Given the description of an element on the screen output the (x, y) to click on. 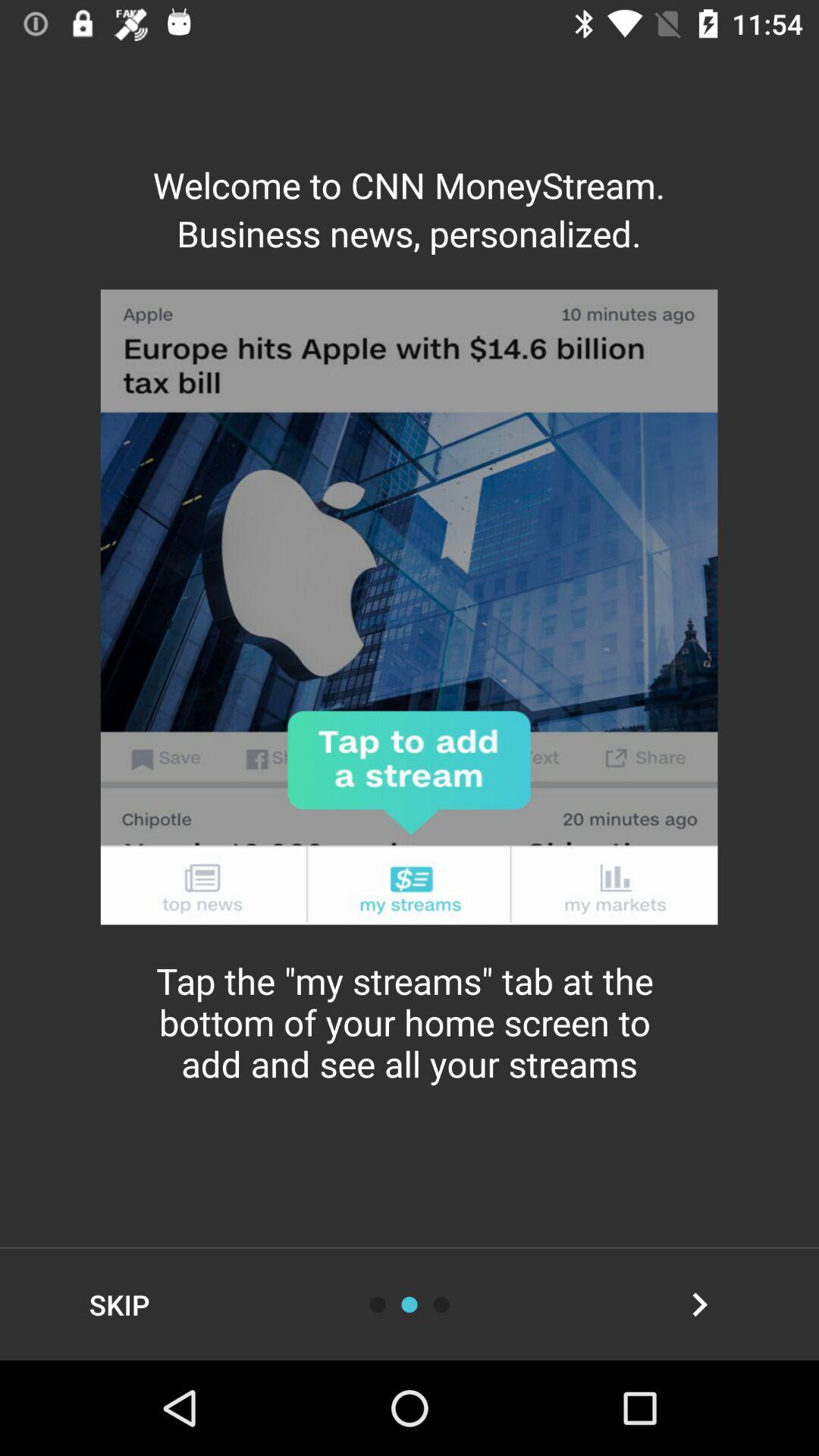
toggle pause (441, 1304)
